Given the description of an element on the screen output the (x, y) to click on. 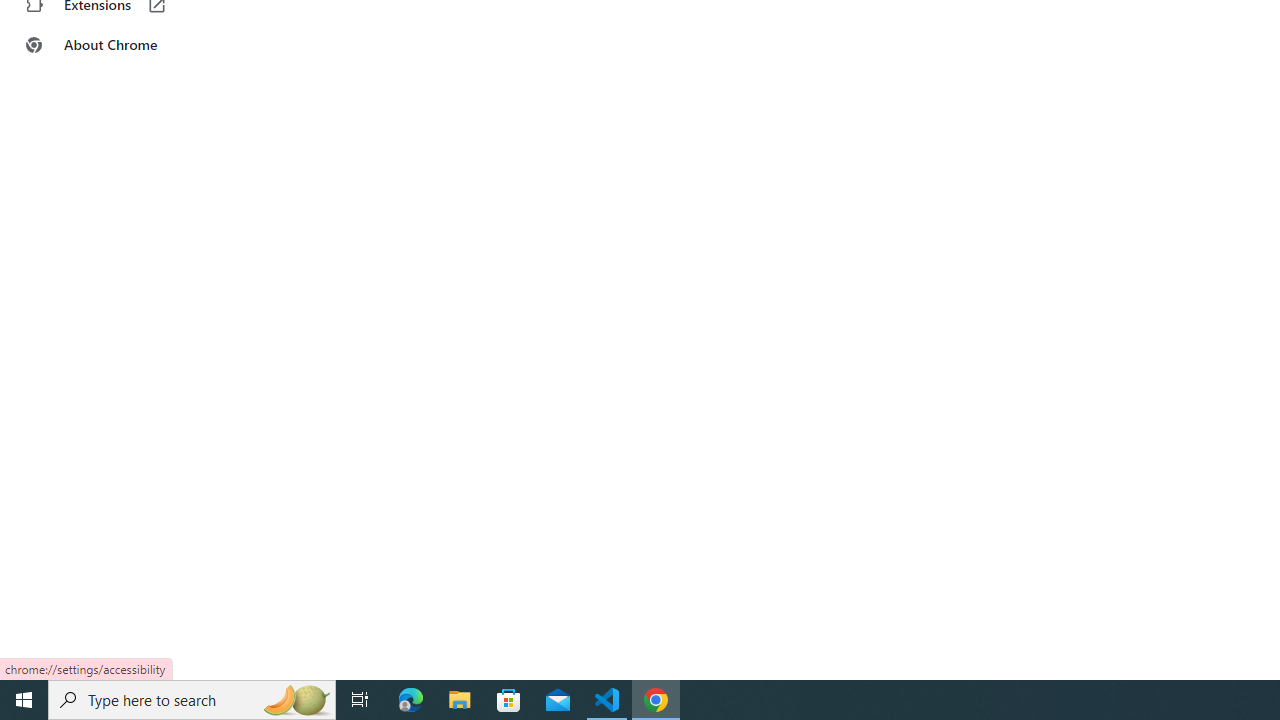
About Chrome (124, 44)
